Given the description of an element on the screen output the (x, y) to click on. 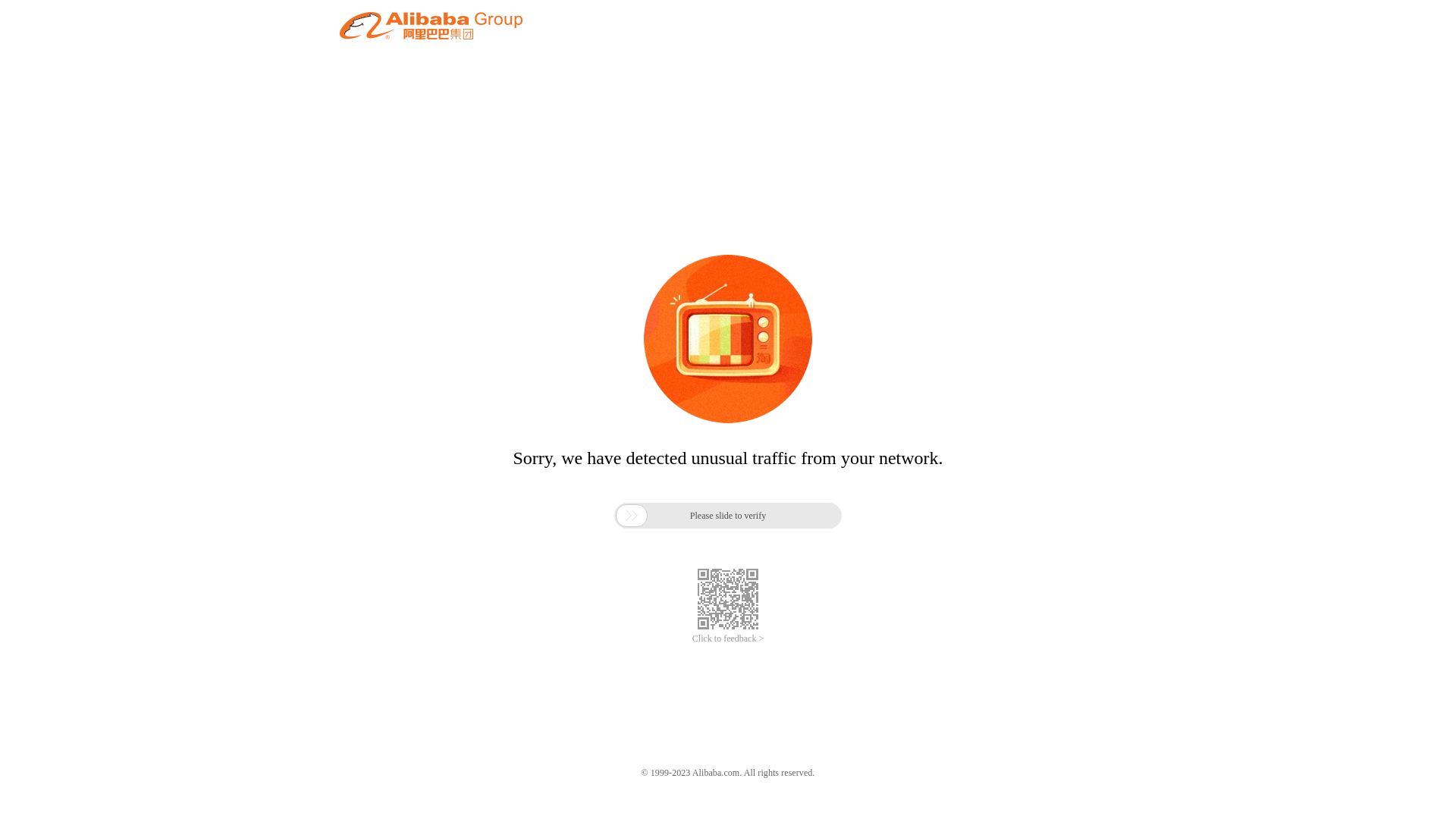
Click to feedback > Element type: text (727, 638)
